Given the description of an element on the screen output the (x, y) to click on. 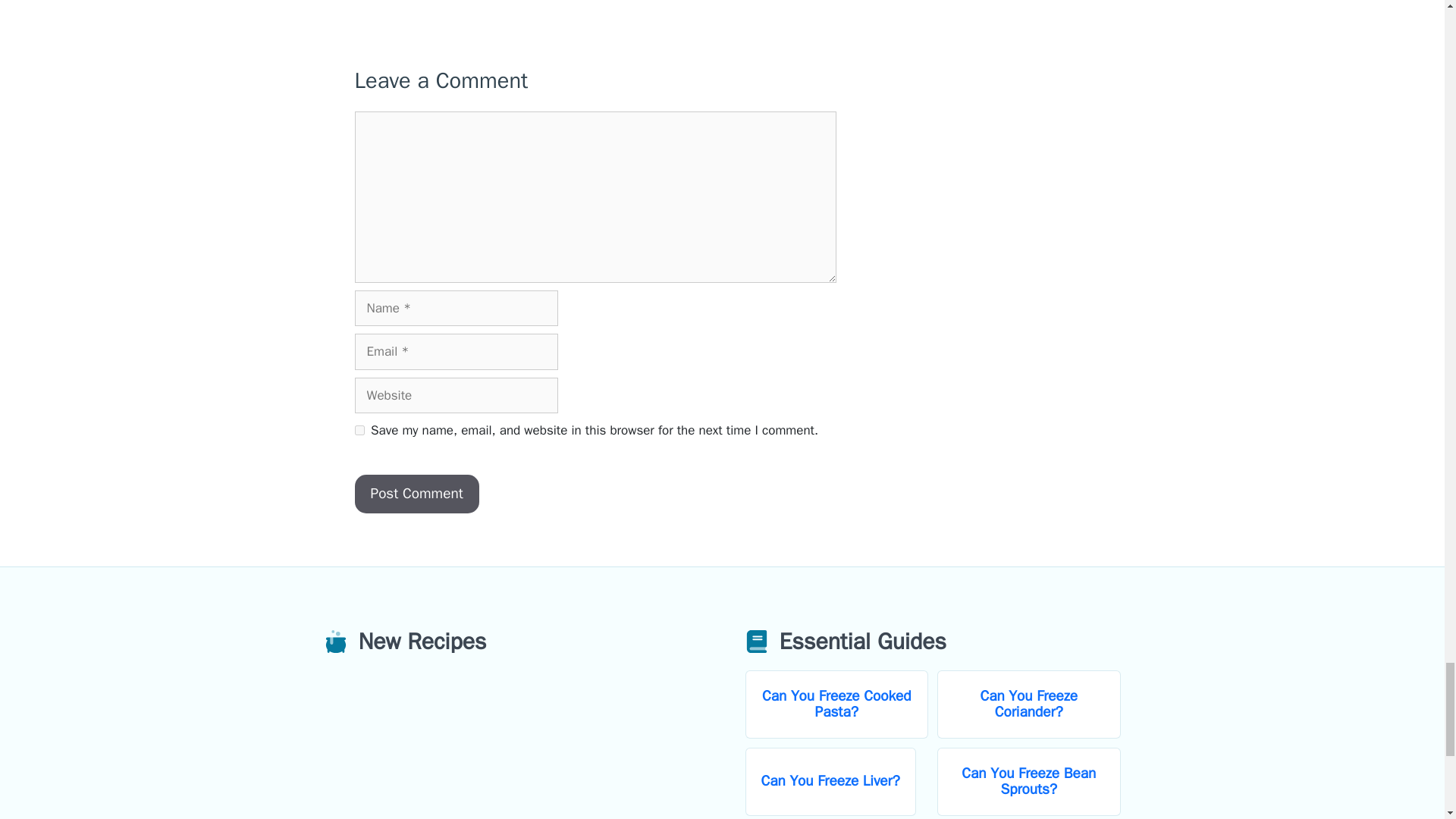
yes (360, 429)
Post Comment (417, 494)
